Given the description of an element on the screen output the (x, y) to click on. 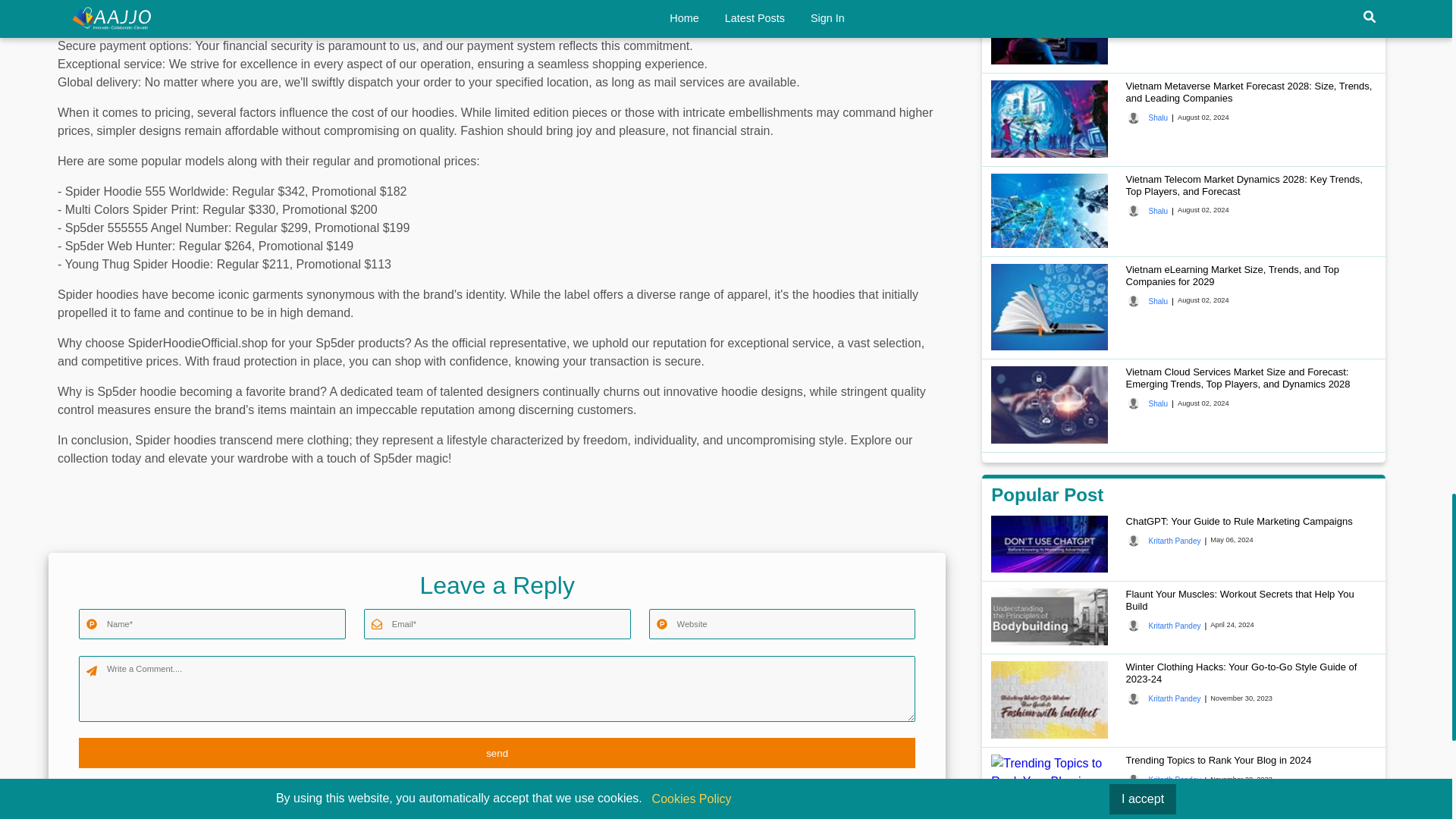
send (496, 752)
